Given the description of an element on the screen output the (x, y) to click on. 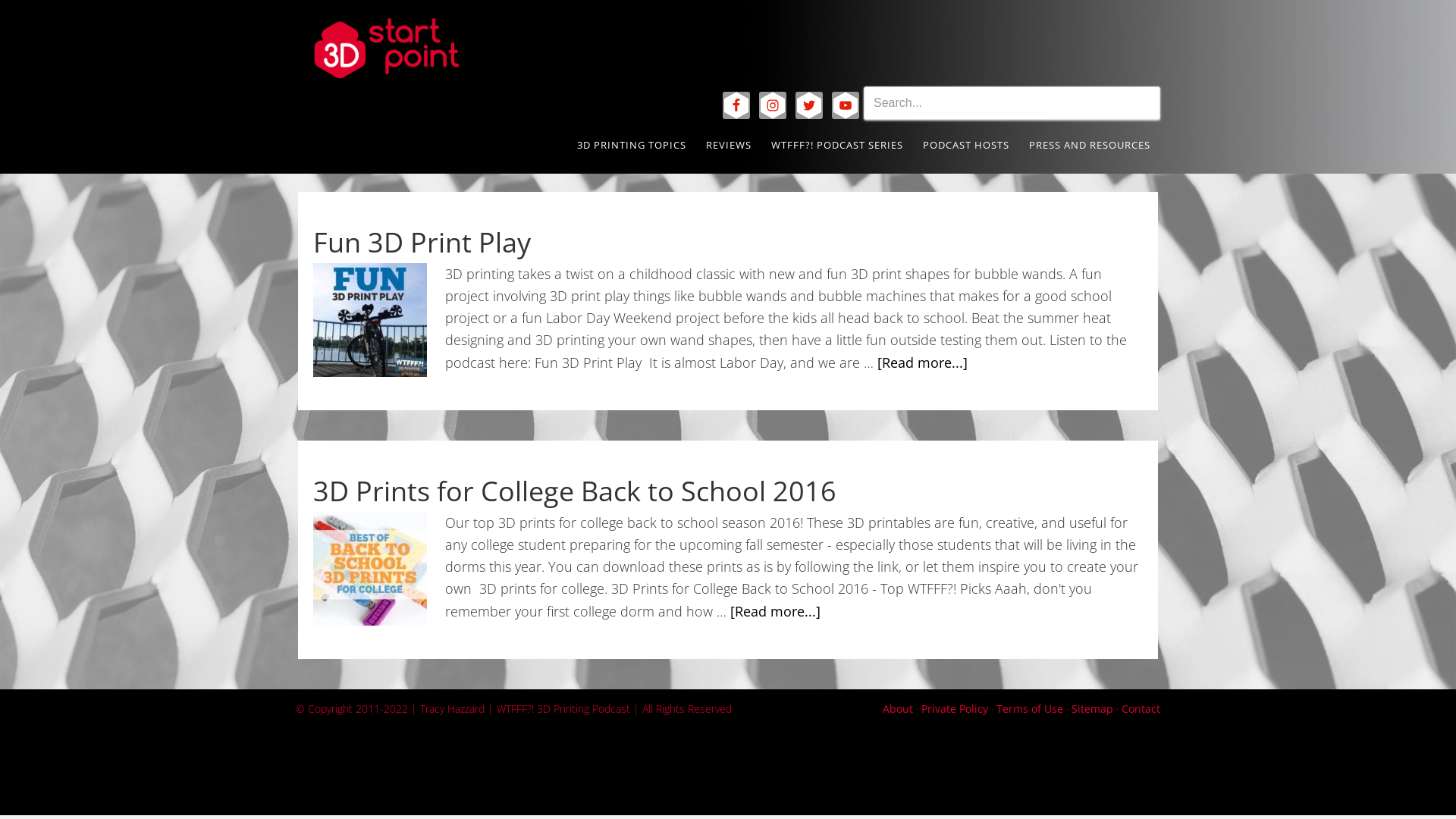
Search Element type: text (1159, 85)
PODCAST HOSTS Element type: text (966, 145)
3D Prints for College Back to School 2016 Element type: text (574, 489)
[Read more...] Element type: text (922, 362)
REVIEWS Element type: text (728, 145)
Contact Element type: text (1140, 707)
3D Print Start Point Element type: text (431, 48)
About Element type: text (897, 707)
Private Policy Element type: text (954, 707)
PRESS AND RESOURCES Element type: text (1089, 145)
3D PRINTING TOPICS Element type: text (631, 145)
[Read more...] Element type: text (775, 611)
Terms of Use Element type: text (1029, 707)
Fun 3D Print Play Element type: text (421, 241)
WTFFF?! PODCAST SERIES Element type: text (837, 145)
Sitemap Element type: text (1092, 707)
